Given the description of an element on the screen output the (x, y) to click on. 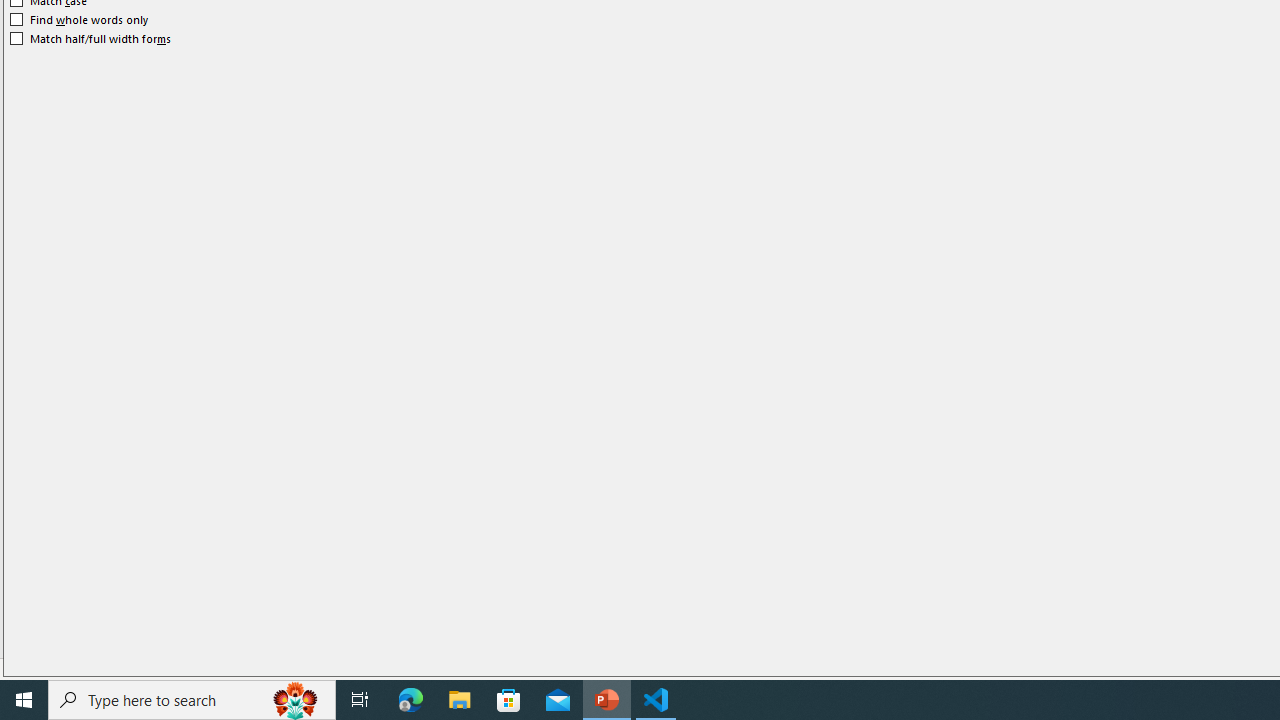
Find whole words only (79, 20)
Match half/full width forms (91, 38)
